Given the description of an element on the screen output the (x, y) to click on. 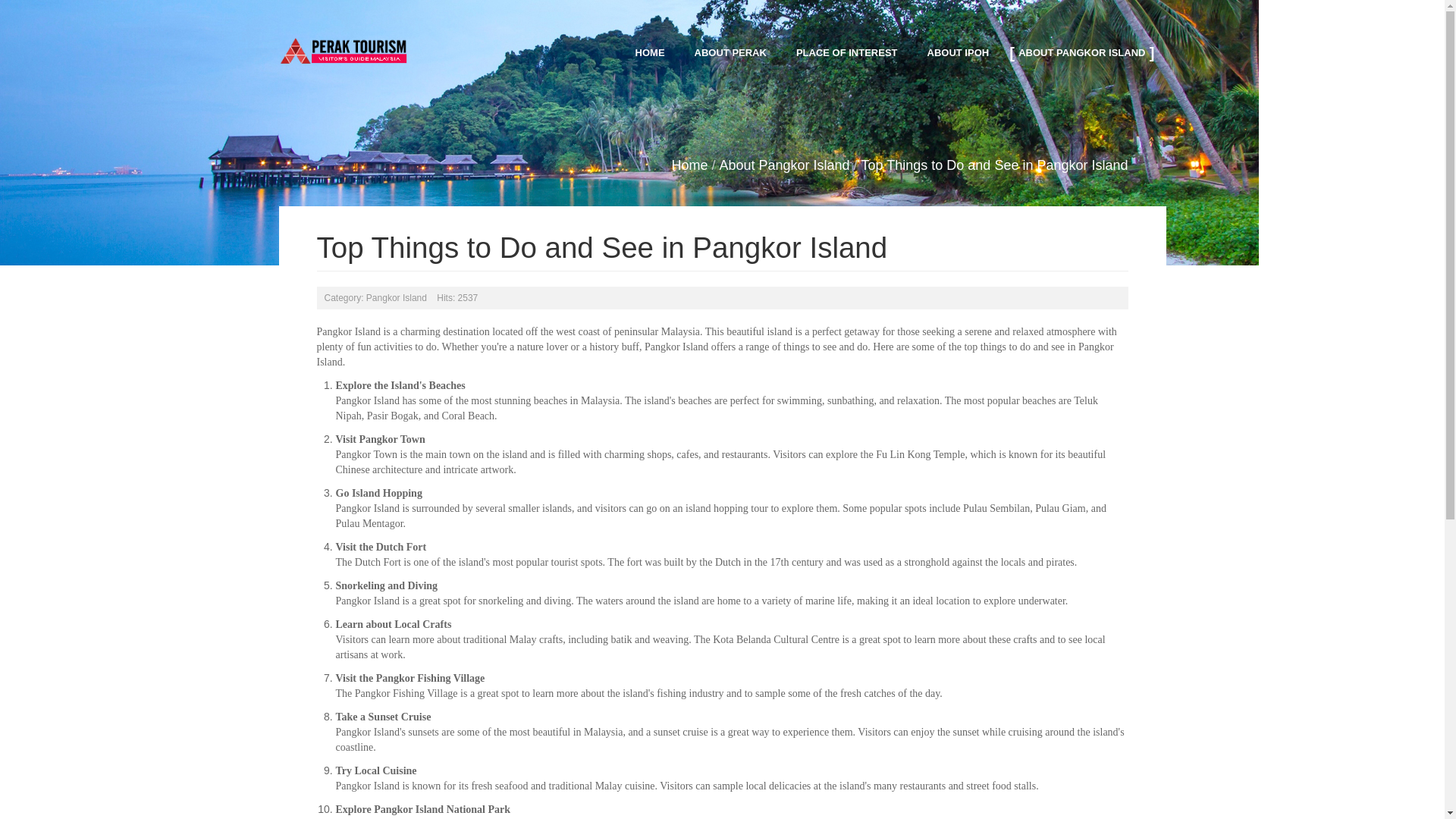
ABOUT IPOH (958, 52)
About Pangkor Island (783, 165)
Home (689, 165)
ABOUT PERAK (730, 52)
ABOUT PANGKOR ISLAND (1081, 52)
HOME (650, 52)
PLACE OF INTEREST (847, 52)
